Given the description of an element on the screen output the (x, y) to click on. 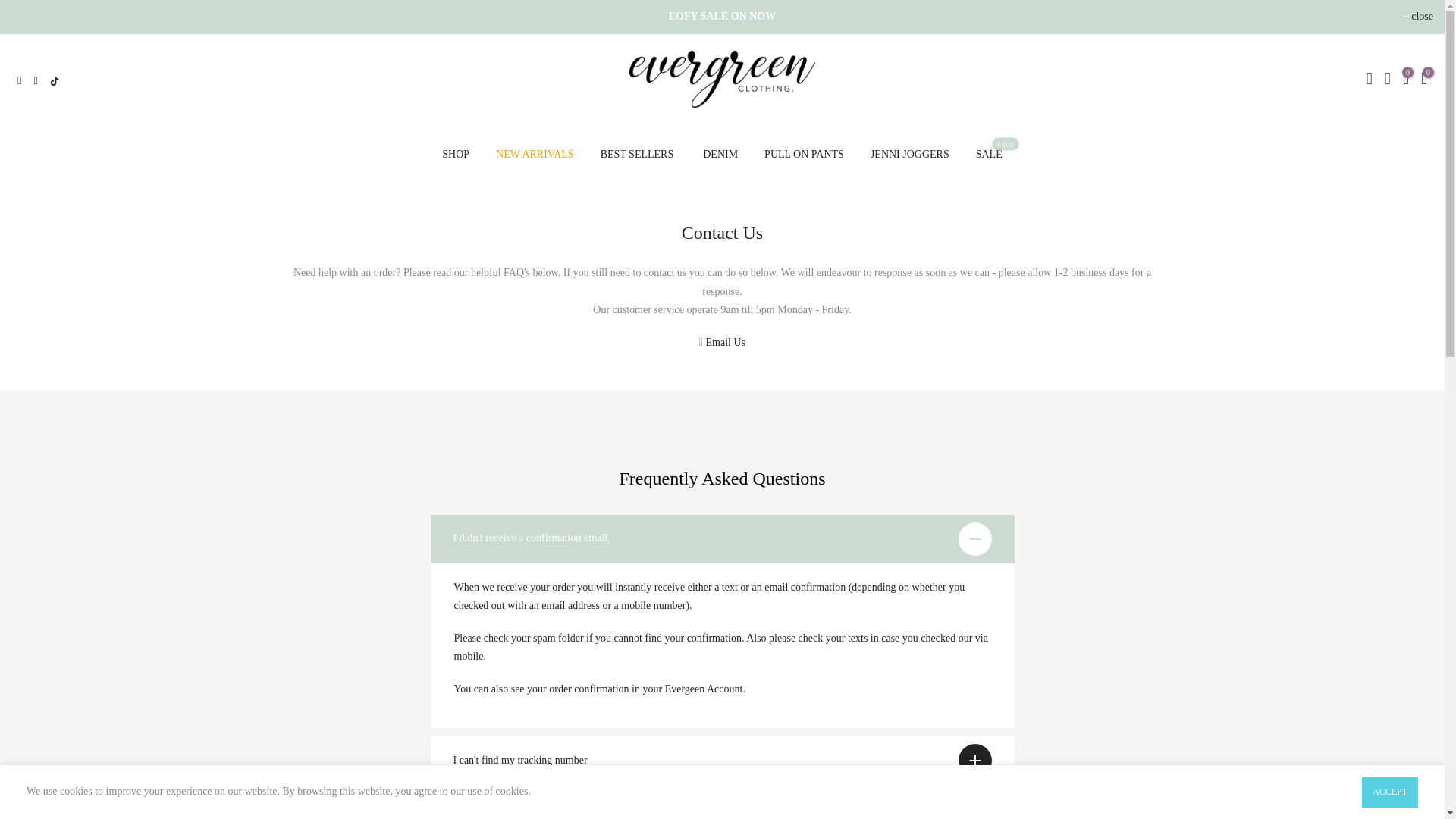
0 (1405, 80)
NEW ARRIVALS (535, 154)
SHOP (456, 154)
close (1417, 16)
